Given the description of an element on the screen output the (x, y) to click on. 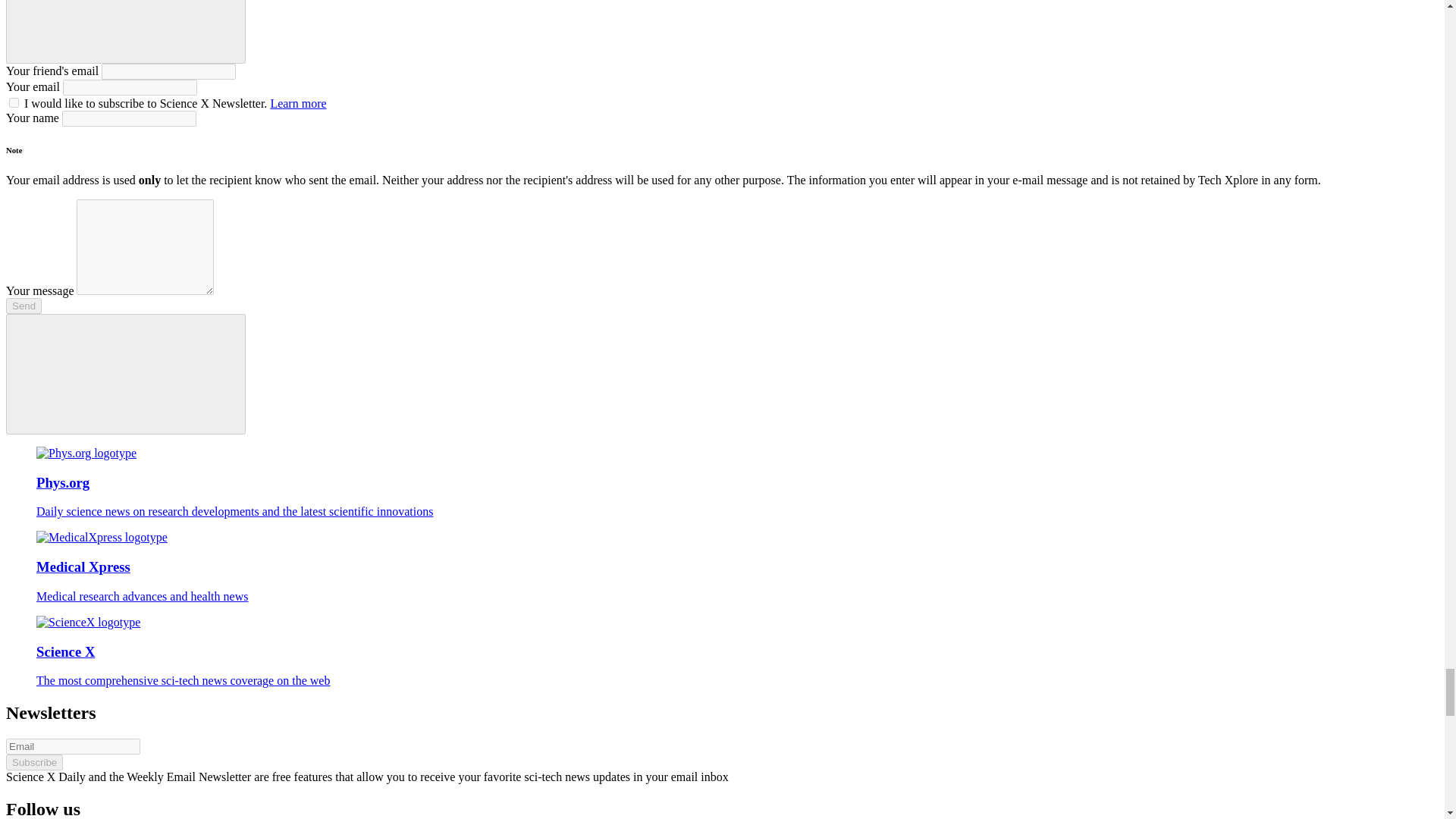
1 (13, 102)
